Given the description of an element on the screen output the (x, y) to click on. 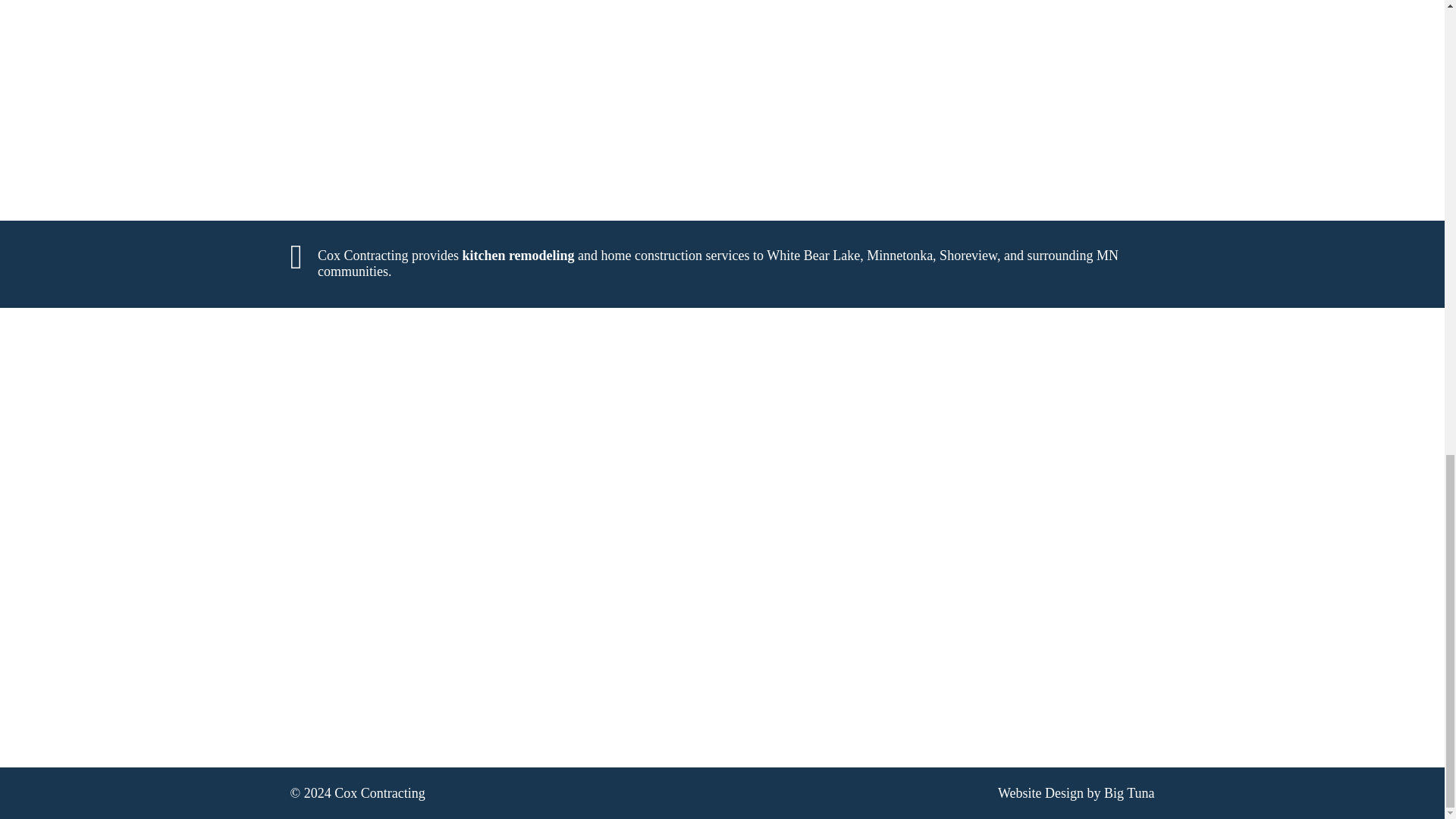
Big Tuna (1128, 793)
Website Design (1040, 793)
kitchen remodeling (517, 255)
